Given the description of an element on the screen output the (x, y) to click on. 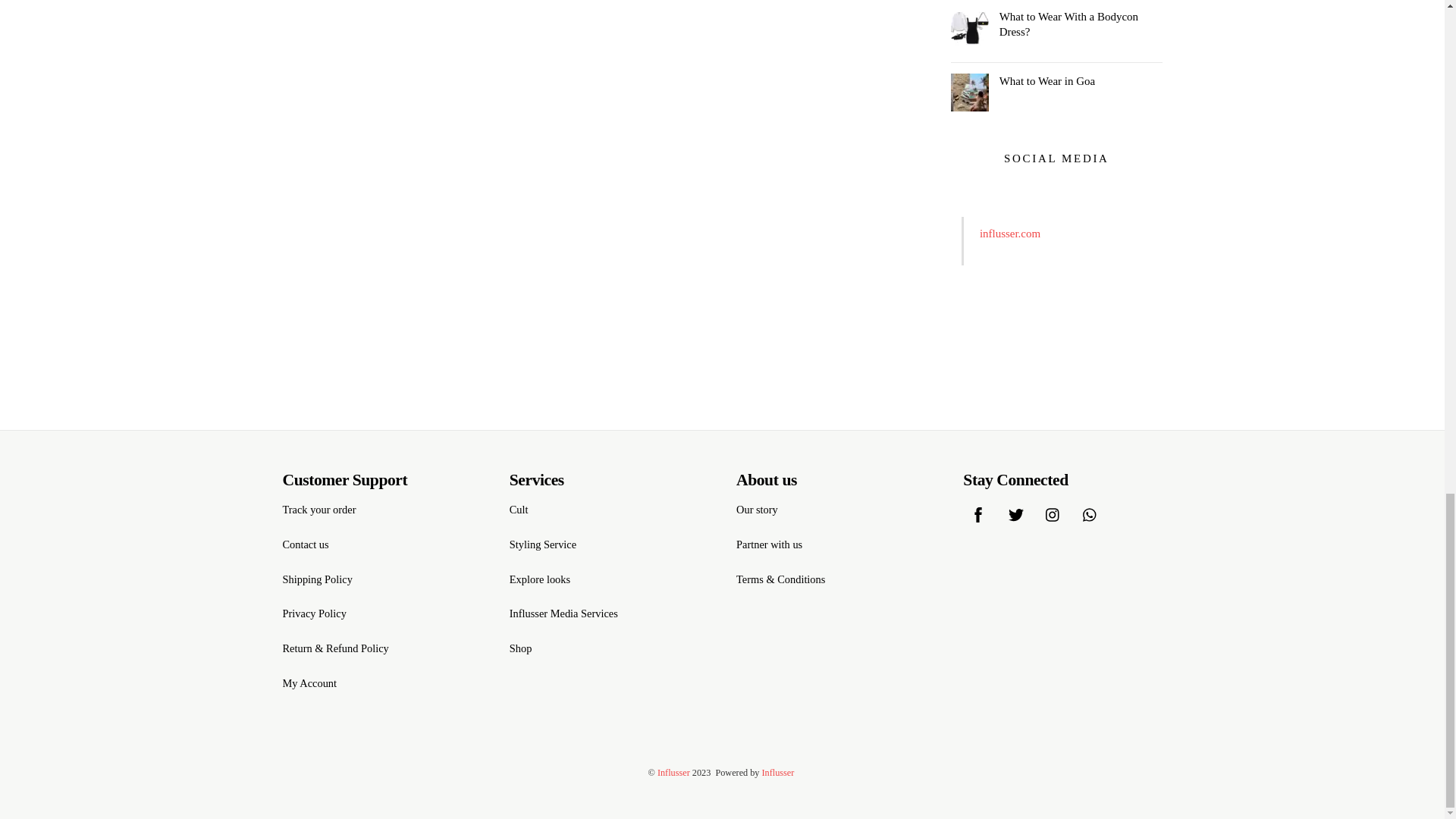
What to Wear in Goa  (1055, 80)
black bodycon dress (969, 27)
what to wear in goa (969, 92)
Contact us (305, 544)
Track your order (318, 509)
What to Wear With a Bodycon Dress? (1055, 24)
influsser.com (1010, 233)
